Given the description of an element on the screen output the (x, y) to click on. 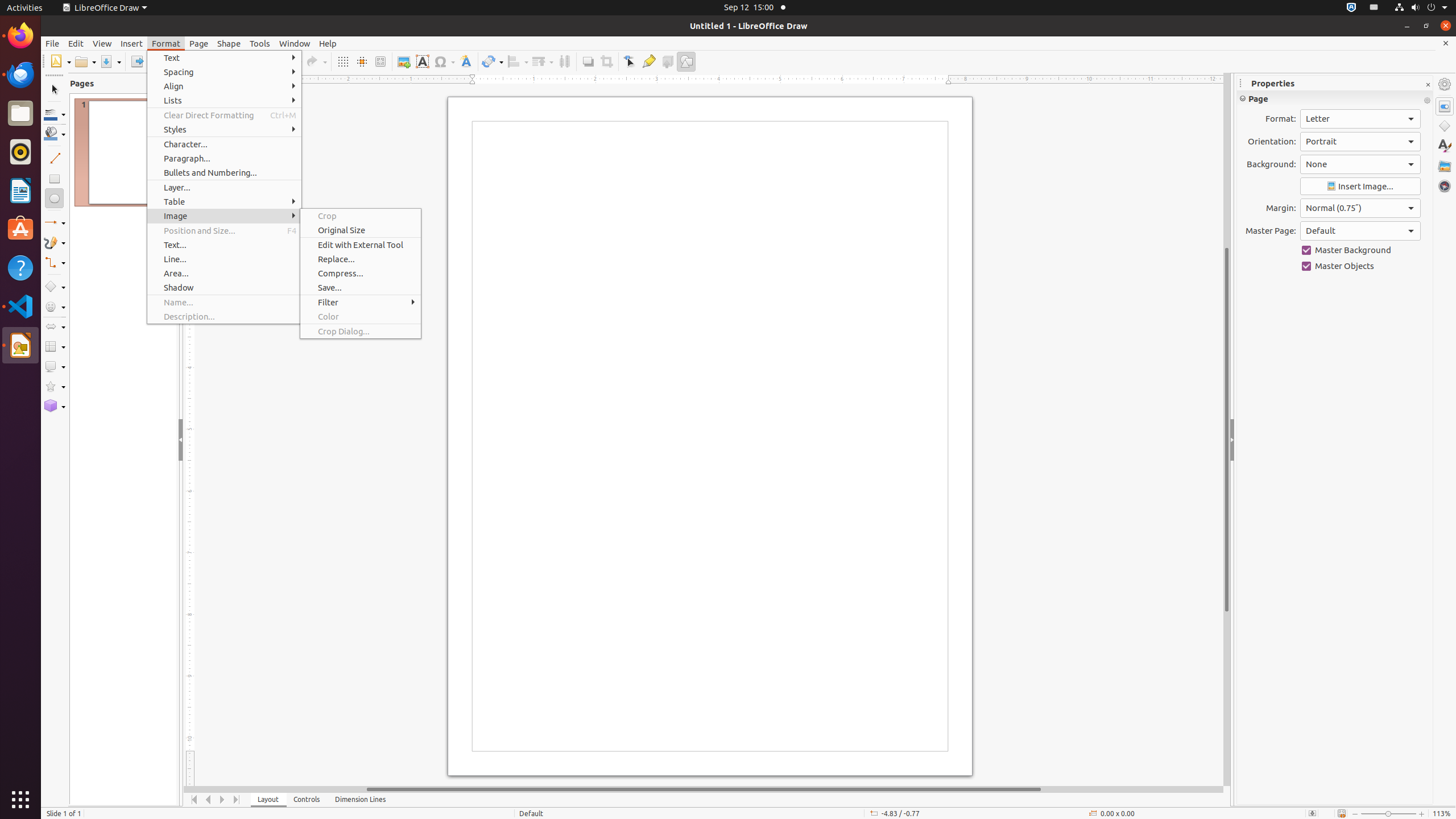
Redo Element type: push-button (315, 61)
System Element type: menu (1420, 7)
Background: Element type: combo-box (1360, 164)
Shadow Element type: toggle-button (587, 61)
Crop Element type: menu-item (360, 215)
